Given the description of an element on the screen output the (x, y) to click on. 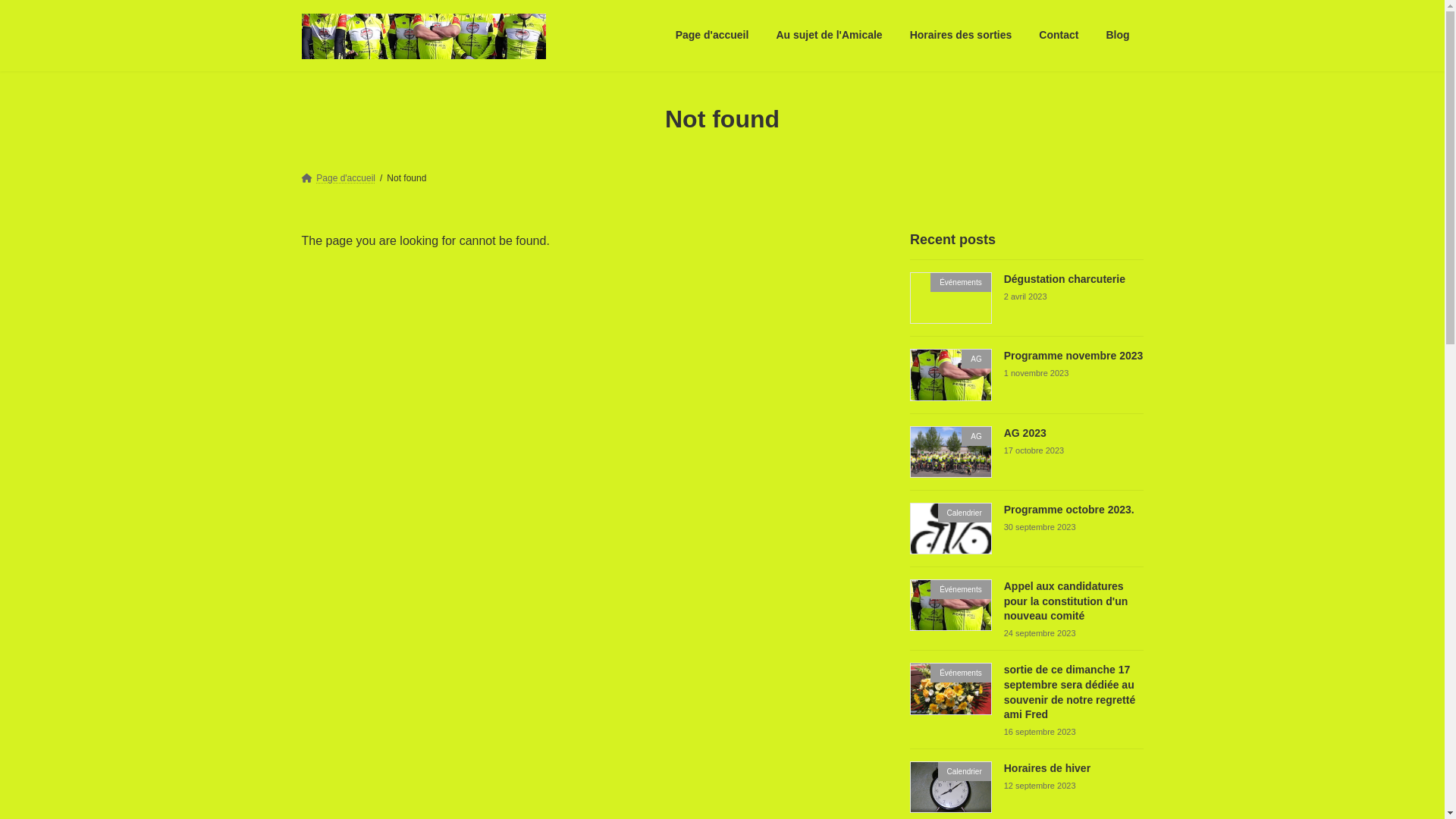
AG 2023 Element type: text (1024, 432)
Programme novembre 2023 Element type: text (1072, 355)
Au sujet de l'Amicale Element type: text (828, 35)
Contact Element type: text (1058, 35)
Blog Element type: text (1117, 35)
Programme octobre 2023. Element type: text (1068, 508)
Page d'accueil Element type: text (338, 177)
Horaires de hiver Element type: text (1046, 768)
Page d'accueil Element type: text (712, 35)
Horaires des sorties Element type: text (961, 35)
